Given the description of an element on the screen output the (x, y) to click on. 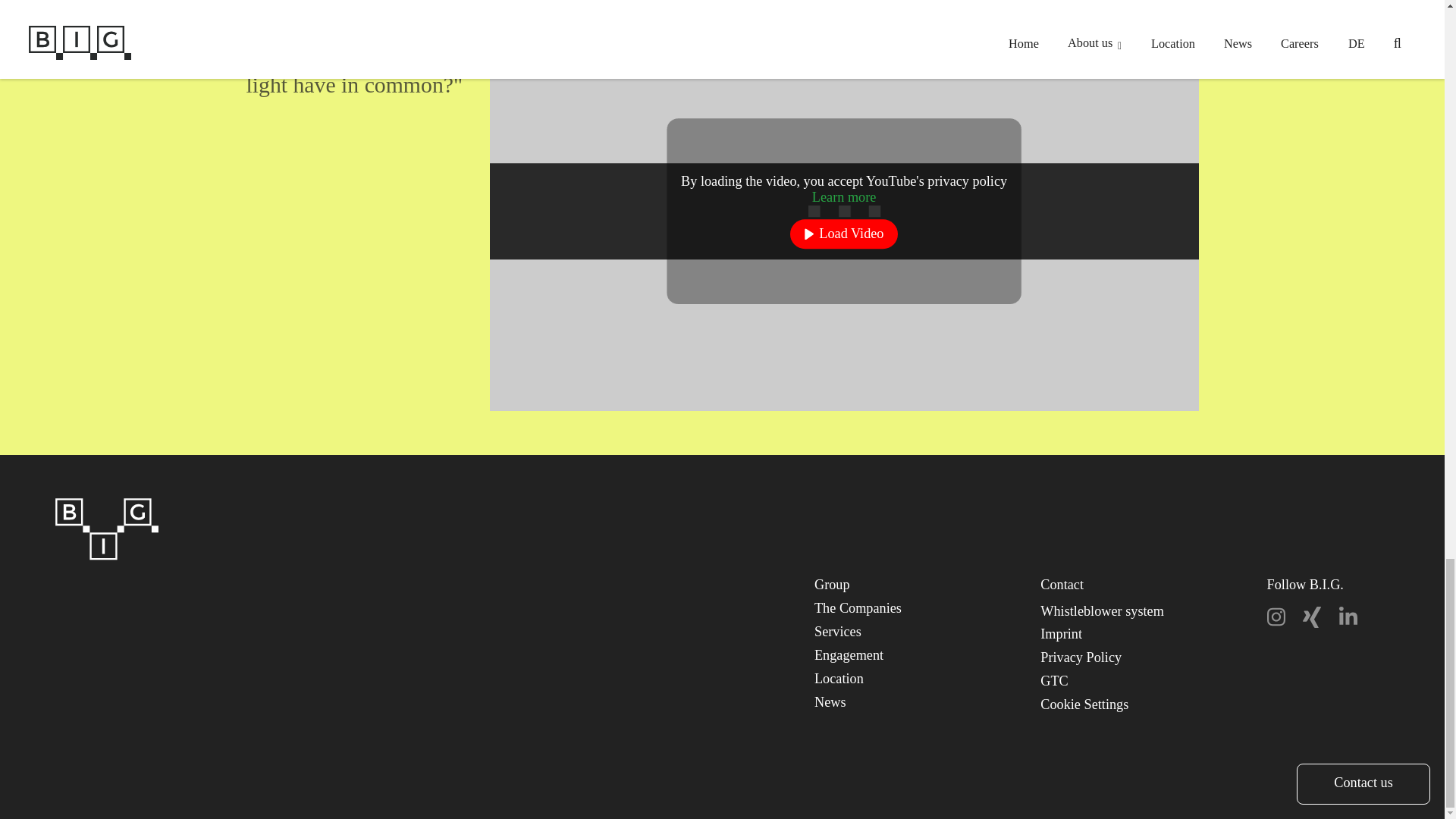
News (829, 702)
Cookie Settings (1084, 703)
Learn more (844, 196)
Imprint (1061, 633)
Contact (1062, 584)
Load Video (843, 234)
Location (838, 678)
Engagement (848, 654)
GTC (1054, 680)
Privacy Policy (1081, 657)
